Given the description of an element on the screen output the (x, y) to click on. 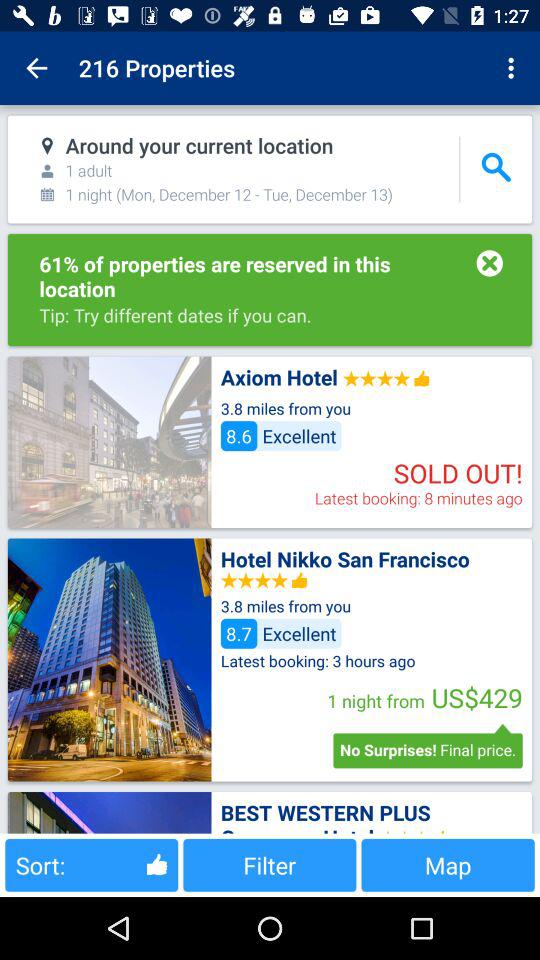
this is an advertisement to find a hotel (109, 659)
